Given the description of an element on the screen output the (x, y) to click on. 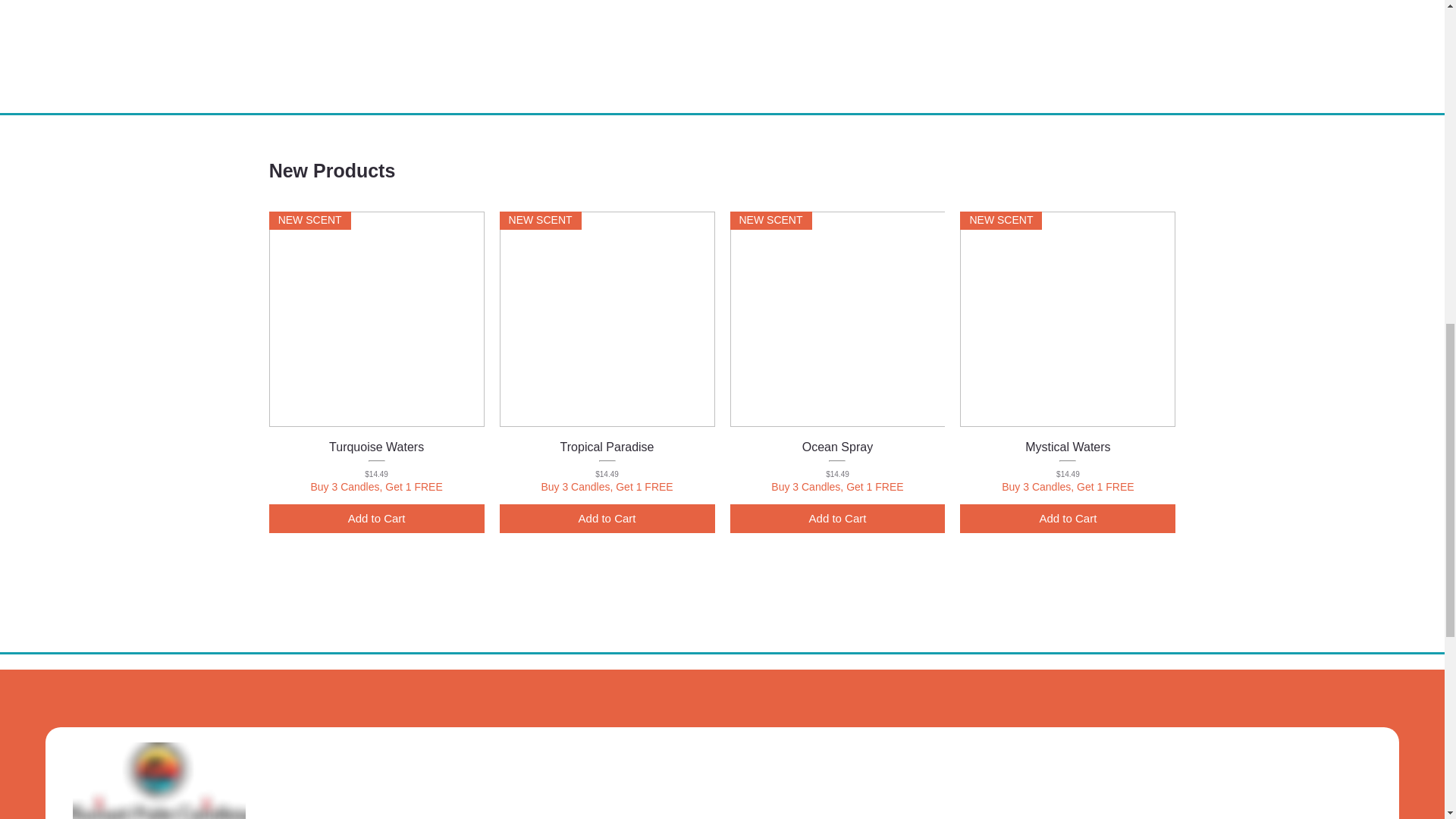
Add to Cart (606, 518)
NEW SCENT (606, 318)
NEW SCENT (836, 318)
NEW SCENT (376, 318)
Add to Cart (376, 518)
